Given the description of an element on the screen output the (x, y) to click on. 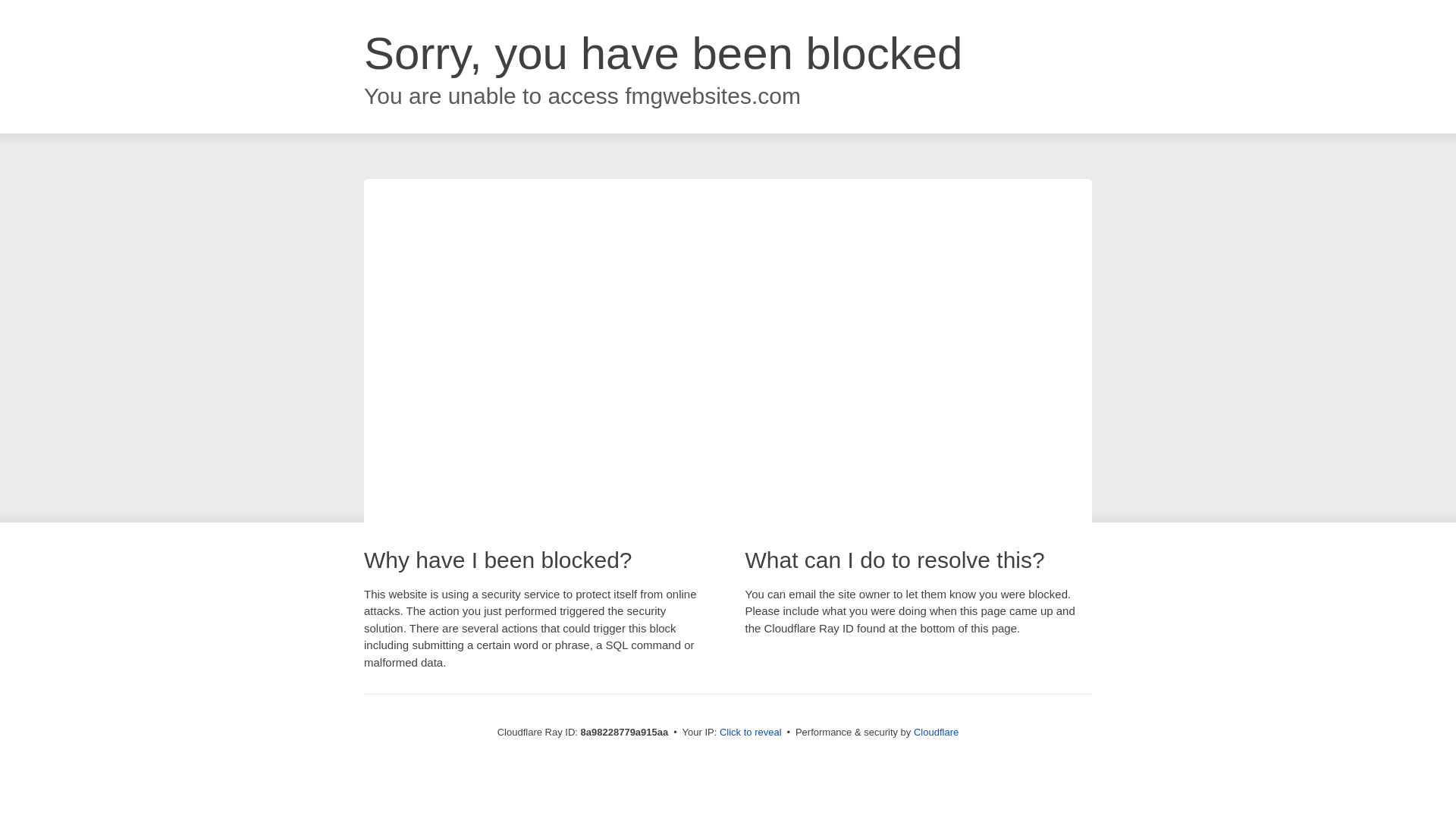
Click to reveal (750, 732)
Cloudflare (936, 731)
